Given the description of an element on the screen output the (x, y) to click on. 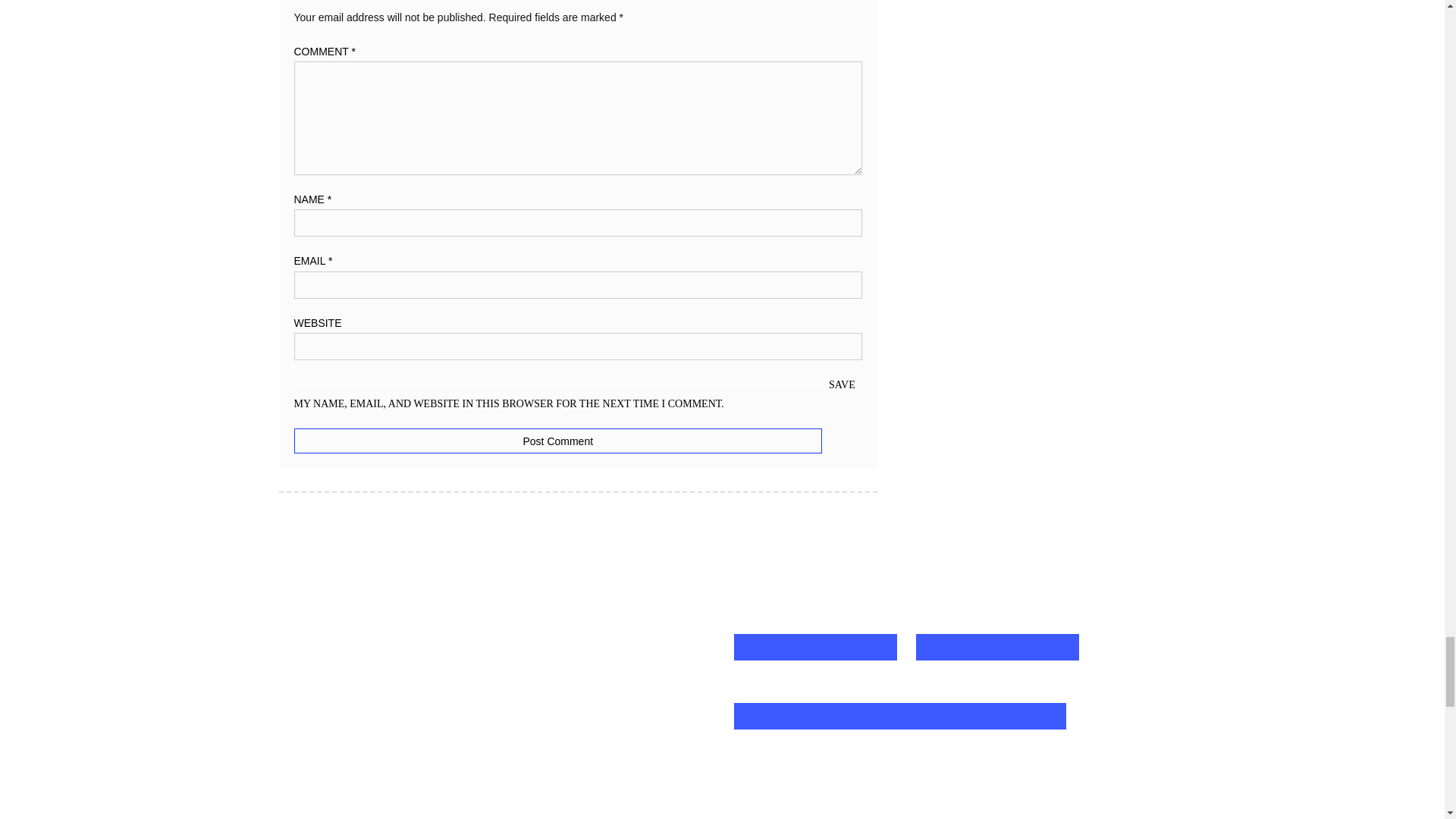
Post Comment (558, 440)
